Given the description of an element on the screen output the (x, y) to click on. 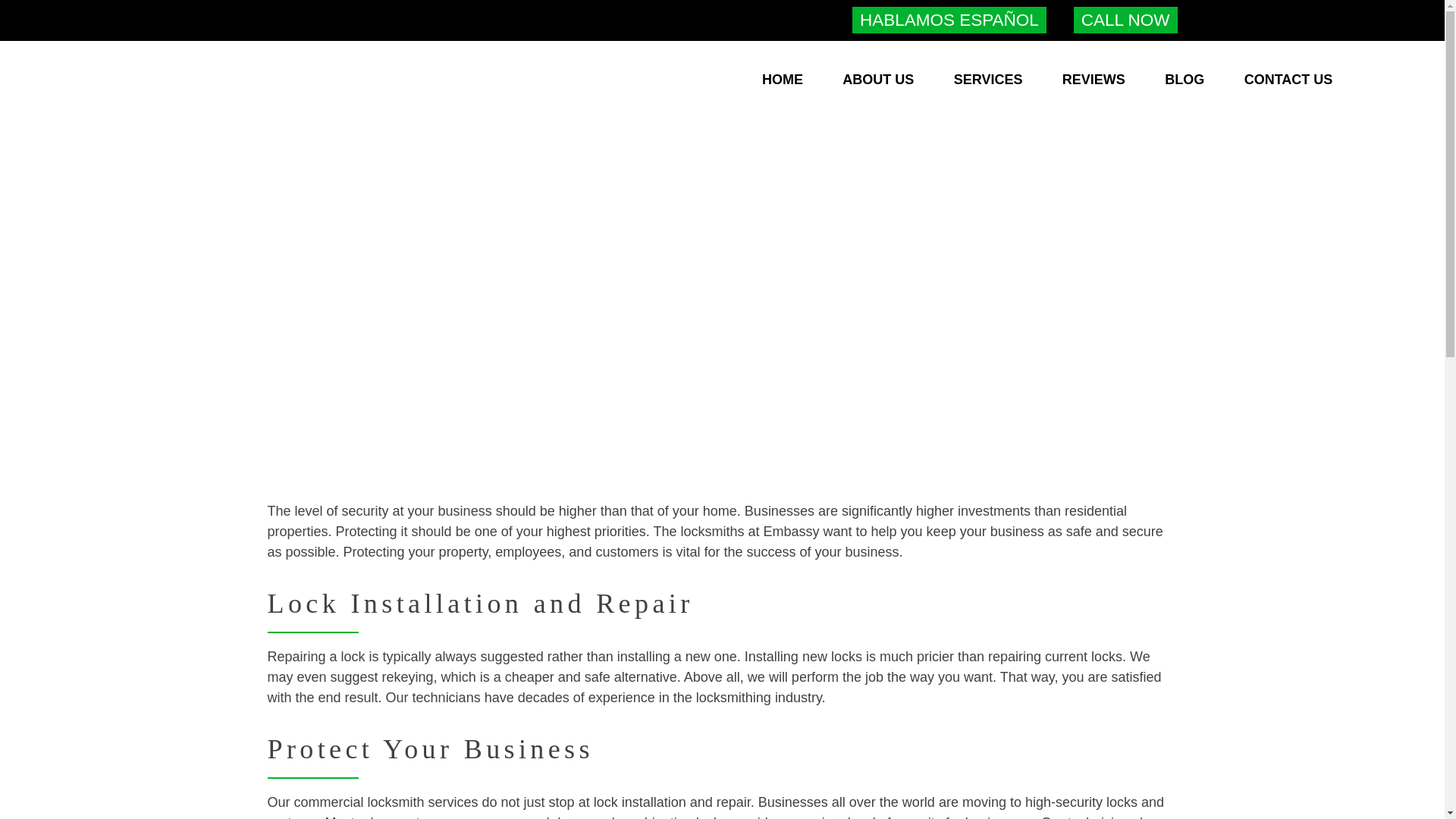
ABOUT US (878, 79)
SERVICES (988, 79)
Embassy Locksmith (132, 134)
CONTACT US (1288, 79)
CALL NOW (1125, 19)
BLOG (1184, 79)
HOME (782, 79)
REVIEWS (1093, 79)
